Given the description of an element on the screen output the (x, y) to click on. 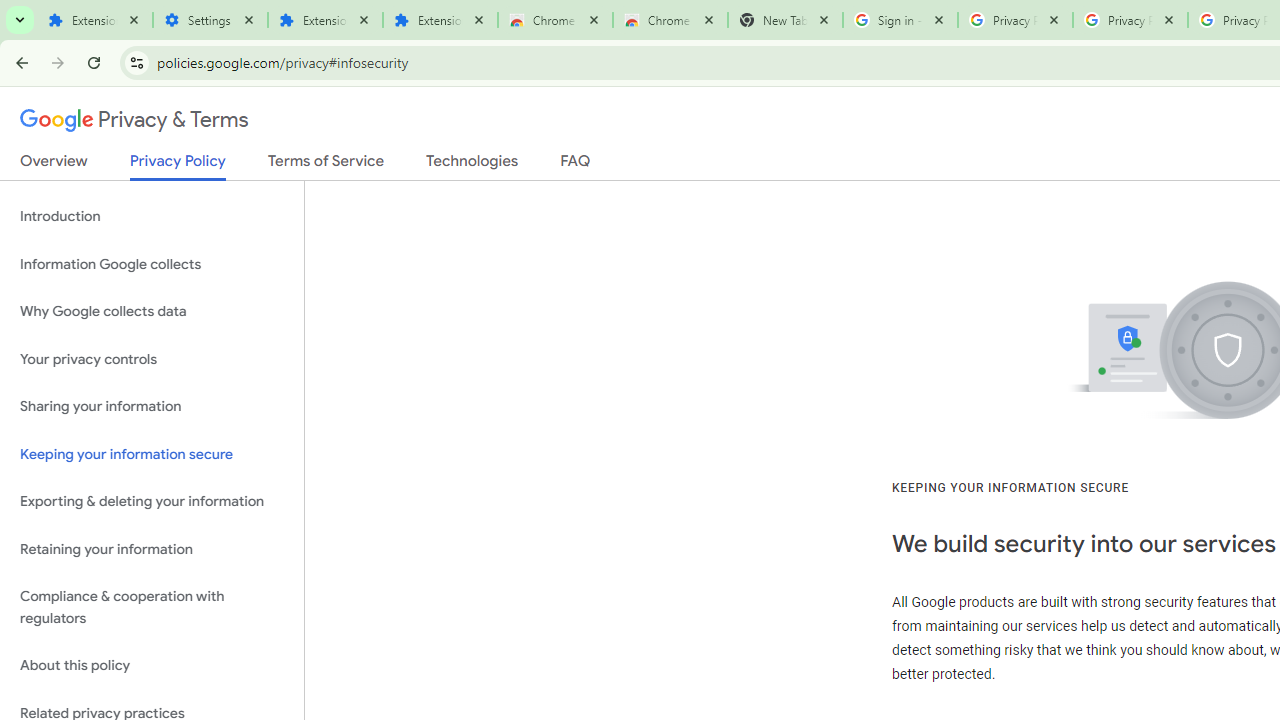
New Tab (785, 20)
Extensions (95, 20)
